Given the description of an element on the screen output the (x, y) to click on. 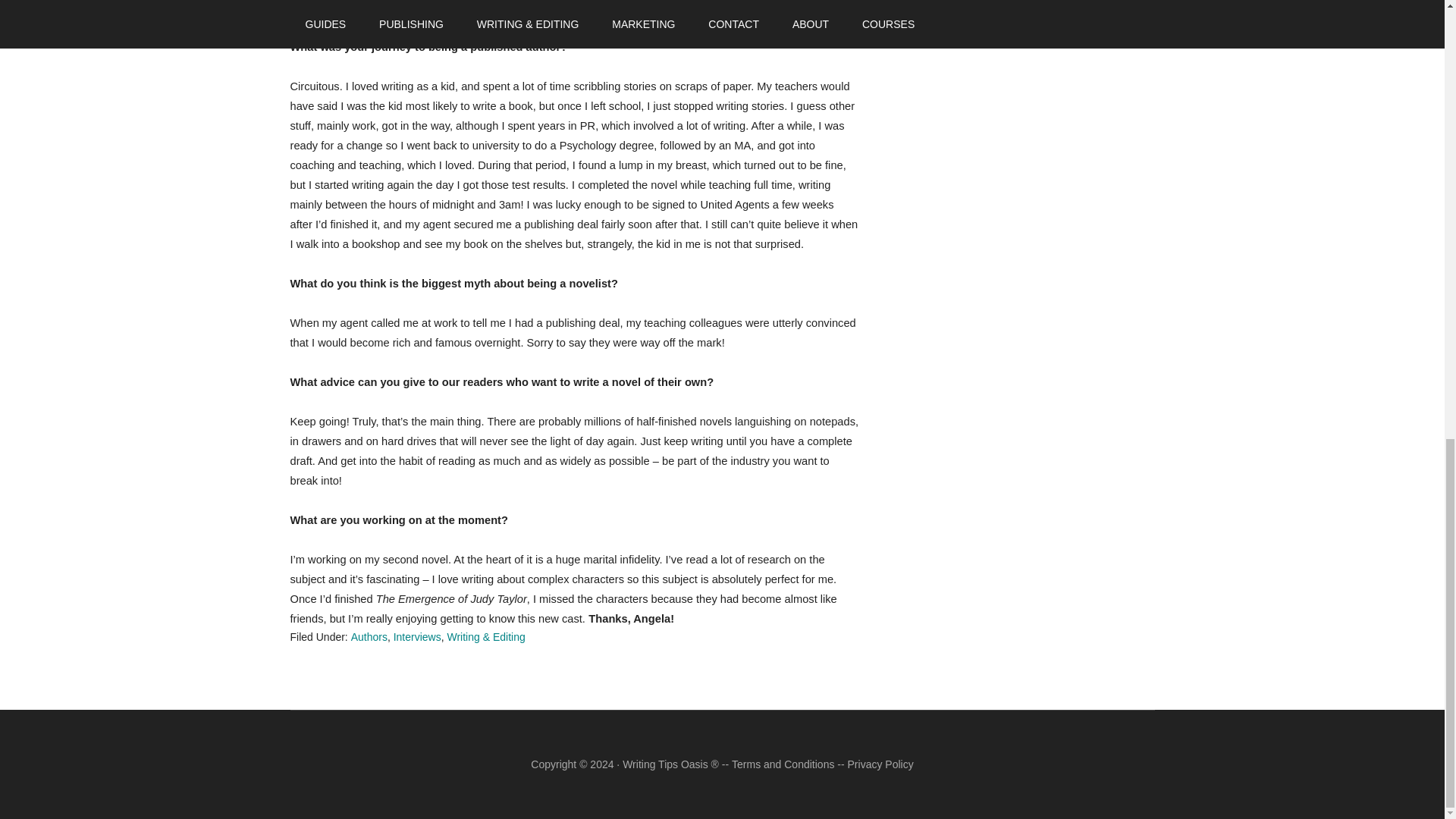
Authors (368, 636)
Interviews (417, 636)
Privacy Policy (880, 764)
Terms and Conditions (783, 764)
